Given the description of an element on the screen output the (x, y) to click on. 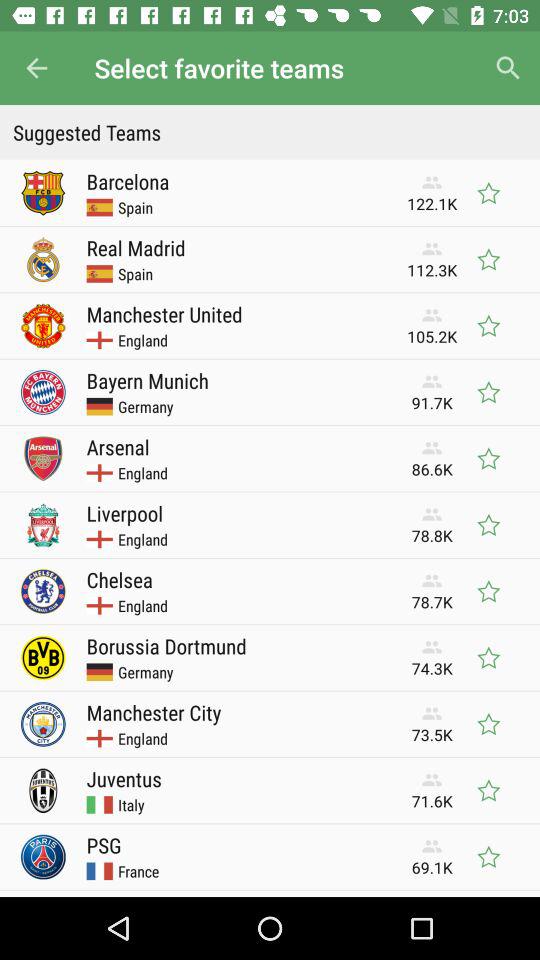
press the icon next to 91.7k (147, 380)
